Given the description of an element on the screen output the (x, y) to click on. 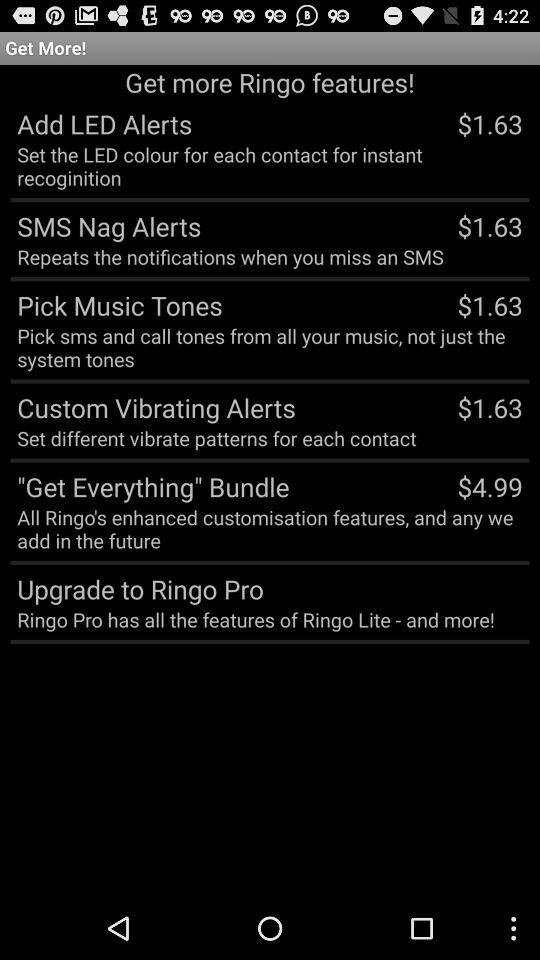
choose app below pick music tones (269, 347)
